Given the description of an element on the screen output the (x, y) to click on. 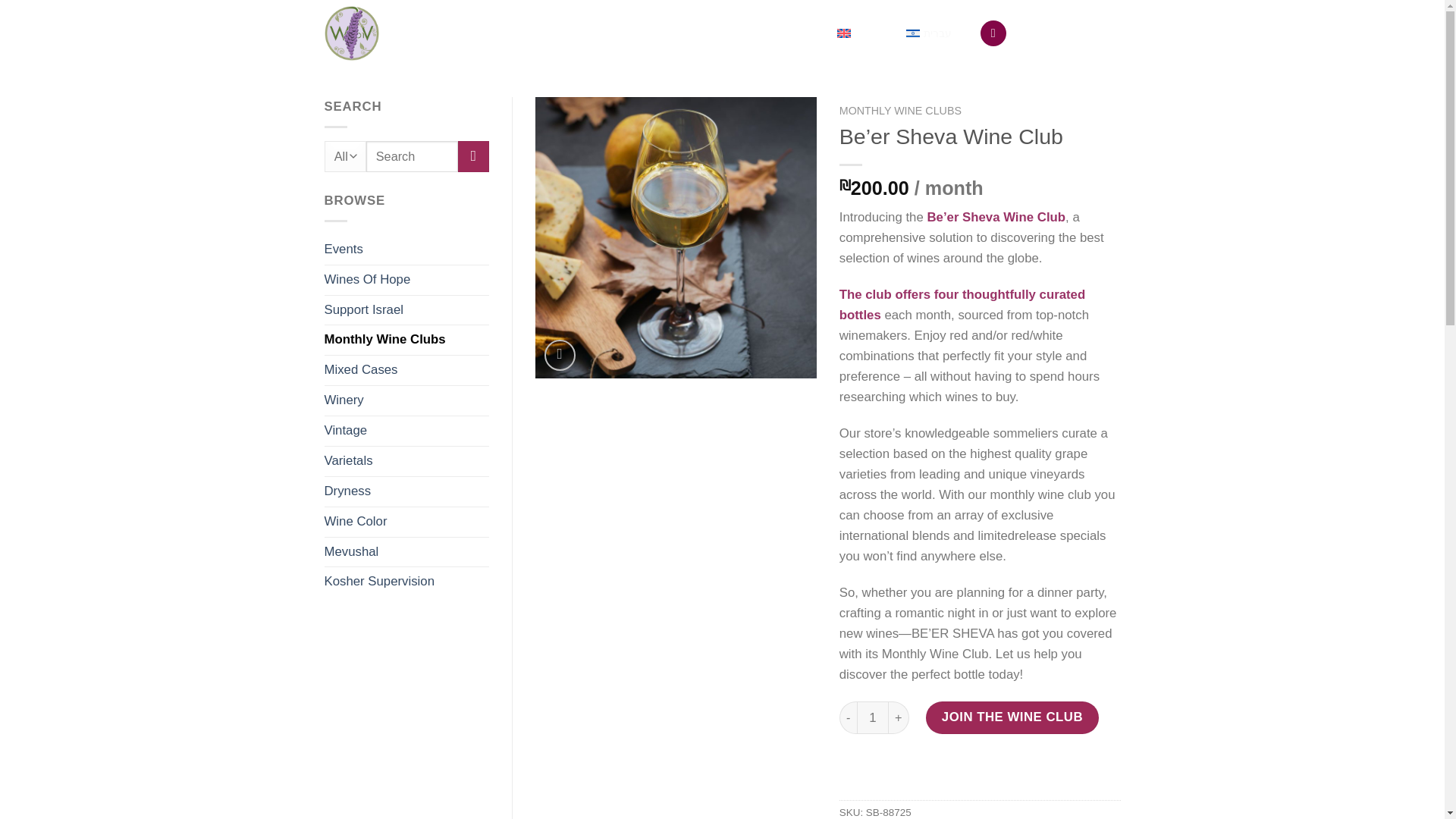
Wines Of Hope (406, 279)
Plant Vines (612, 19)
About (467, 19)
Monthly Wine Clubs (406, 339)
Mixed Cases (406, 369)
Home (420, 19)
Vintage (406, 430)
Wine Tour (438, 48)
Support Israel (406, 310)
Winery (406, 400)
Events (406, 249)
Search (473, 155)
Monthly Wine Club (712, 19)
Zoom (559, 355)
Wine Shop (532, 19)
